Given the description of an element on the screen output the (x, y) to click on. 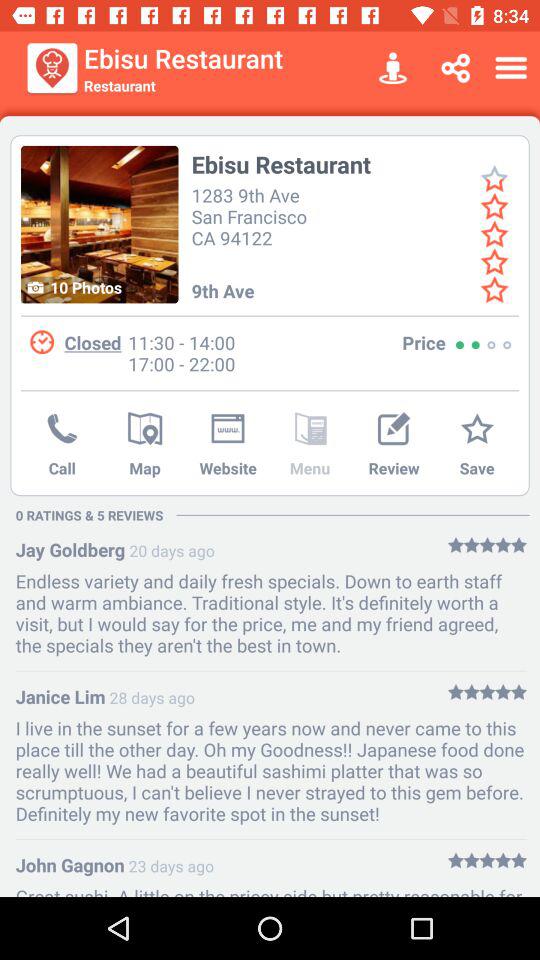
launch the item to the left of the ebisu restaurant icon (99, 224)
